Given the description of an element on the screen output the (x, y) to click on. 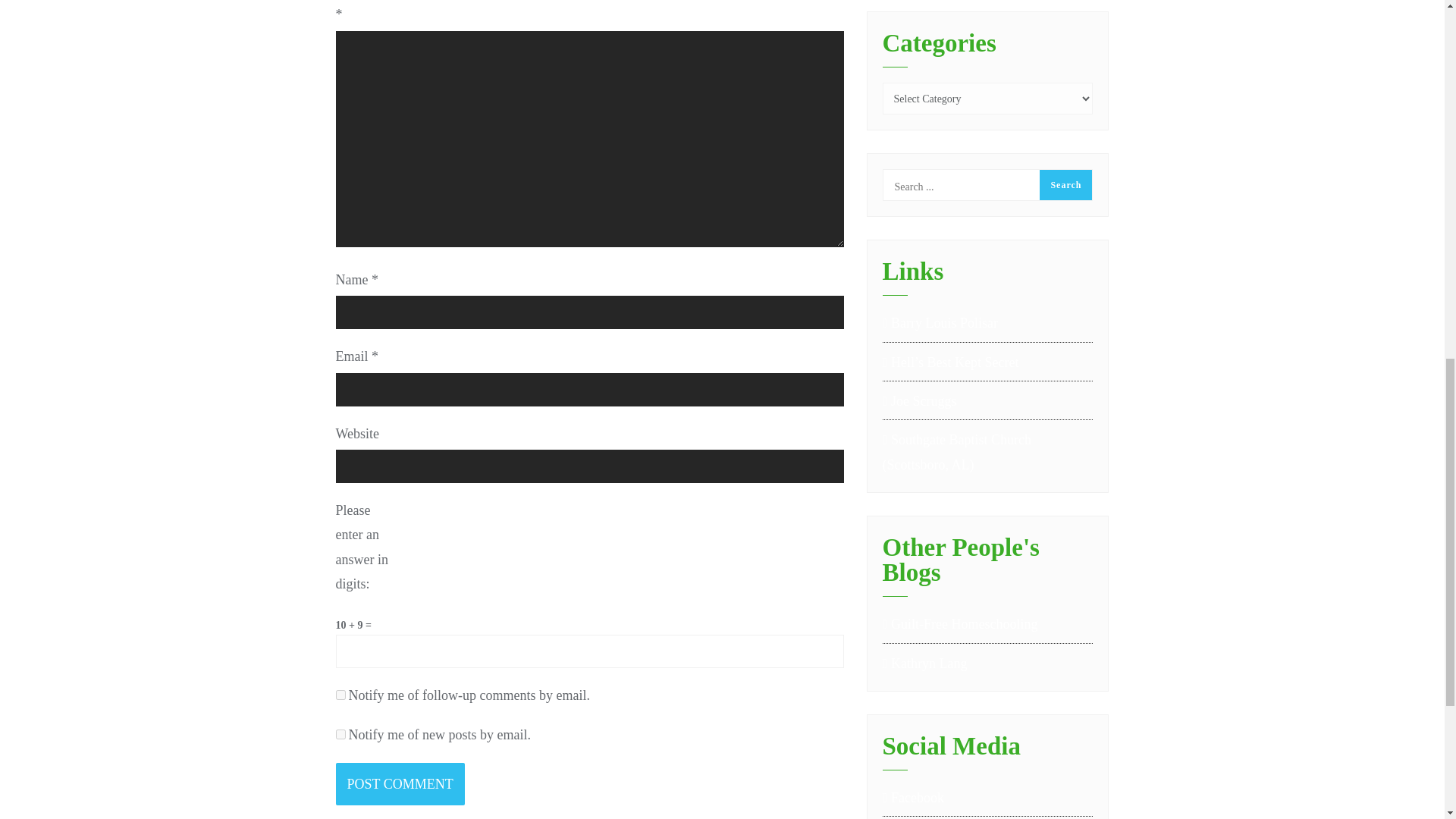
Post Comment (399, 783)
Southgate Baptist Church (987, 451)
subscribe (339, 695)
Post Comment (399, 783)
Search (1065, 184)
subscribe (339, 734)
Search (1065, 184)
